Given the description of an element on the screen output the (x, y) to click on. 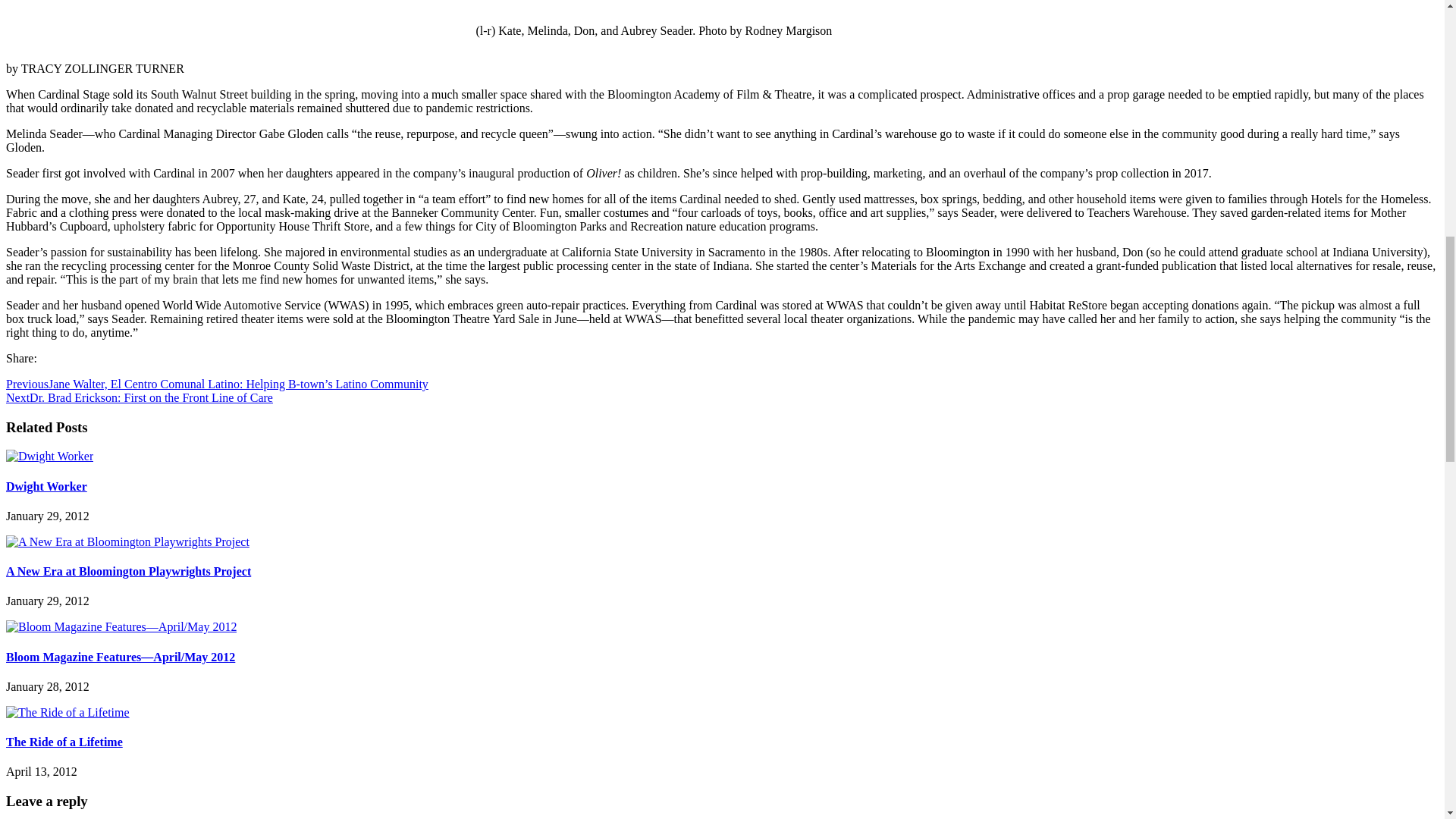
A New Era at Bloomington Playwrights Project (127, 571)
Dwight Worker (49, 455)
NextDr. Brad Erickson: First on the Front Line of Care (139, 397)
The Ride of a Lifetime (67, 712)
A New Era at Bloomington Playwrights Project (126, 541)
Dwight Worker (46, 486)
The Ride of a Lifetime (63, 741)
